Given the description of an element on the screen output the (x, y) to click on. 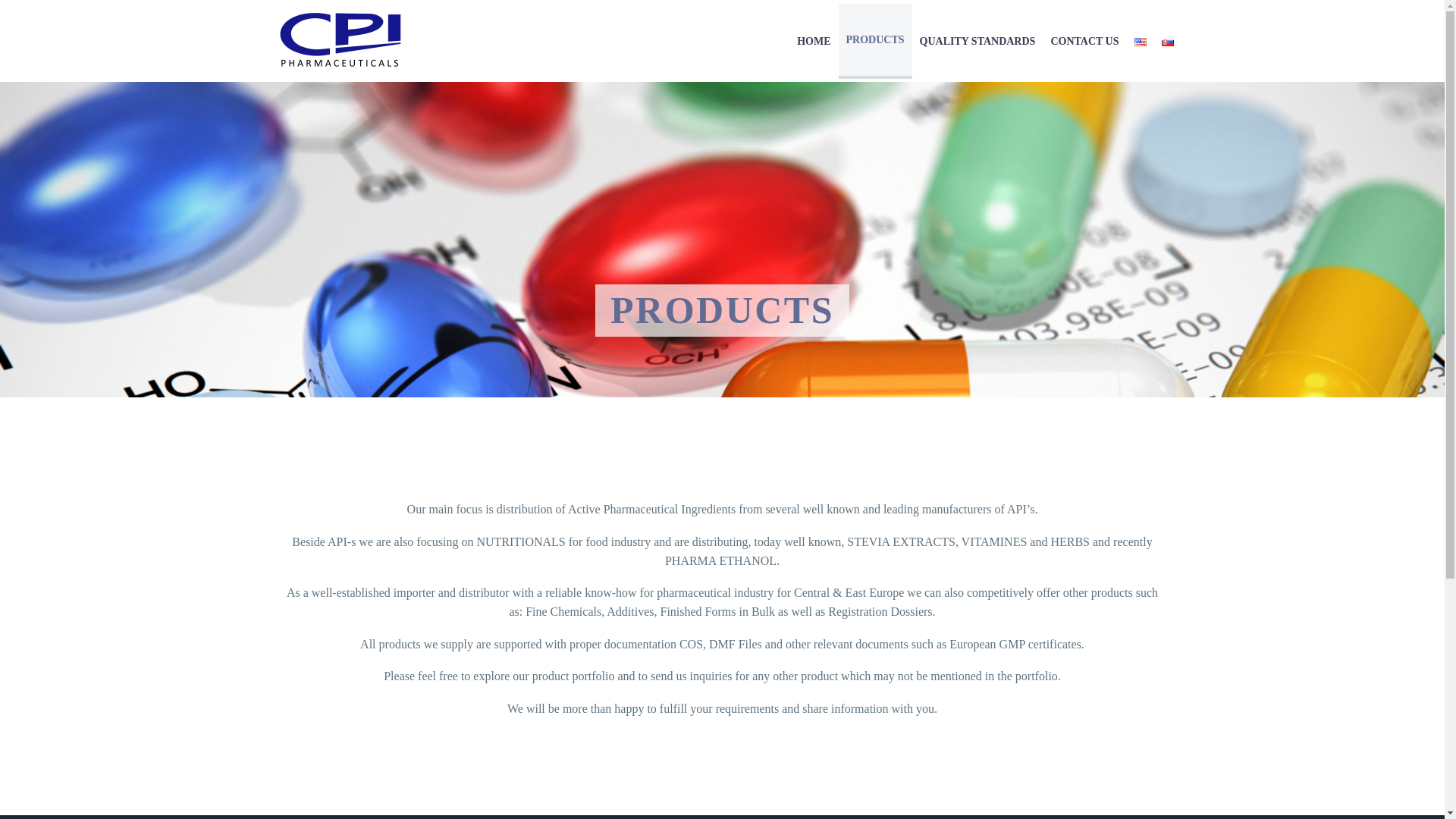
CONTACT US (1083, 40)
QUALITY STANDARDS (977, 40)
HOME (813, 40)
PRODUCTS (875, 40)
